Given the description of an element on the screen output the (x, y) to click on. 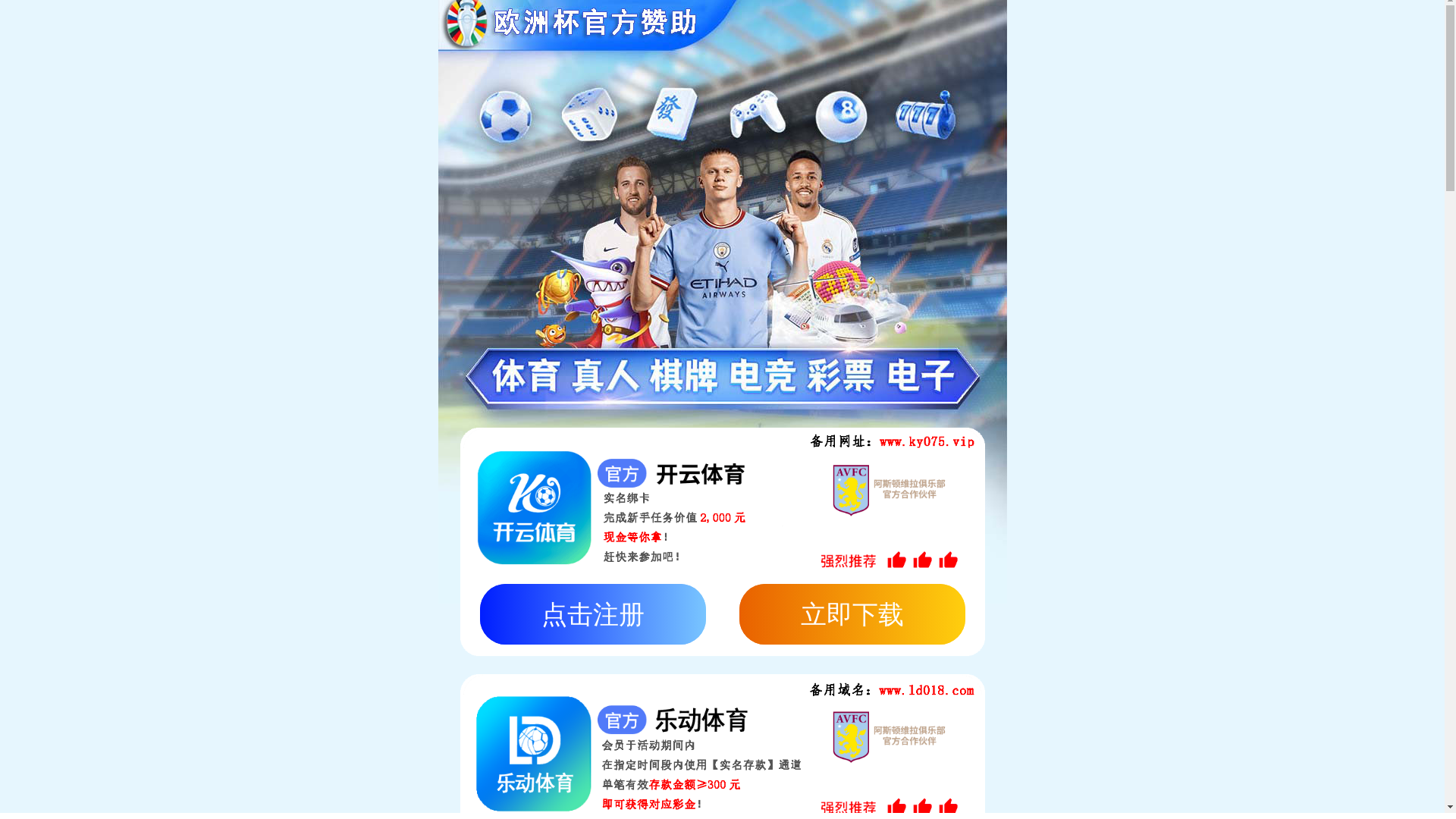
News (1128, 24)
About Us (956, 24)
Products (1022, 24)
Development History (461, 359)
Marketing Network (329, 359)
Company Profile (208, 359)
Cases (1079, 24)
Home (897, 24)
Contact Us (1190, 24)
